Given the description of an element on the screen output the (x, y) to click on. 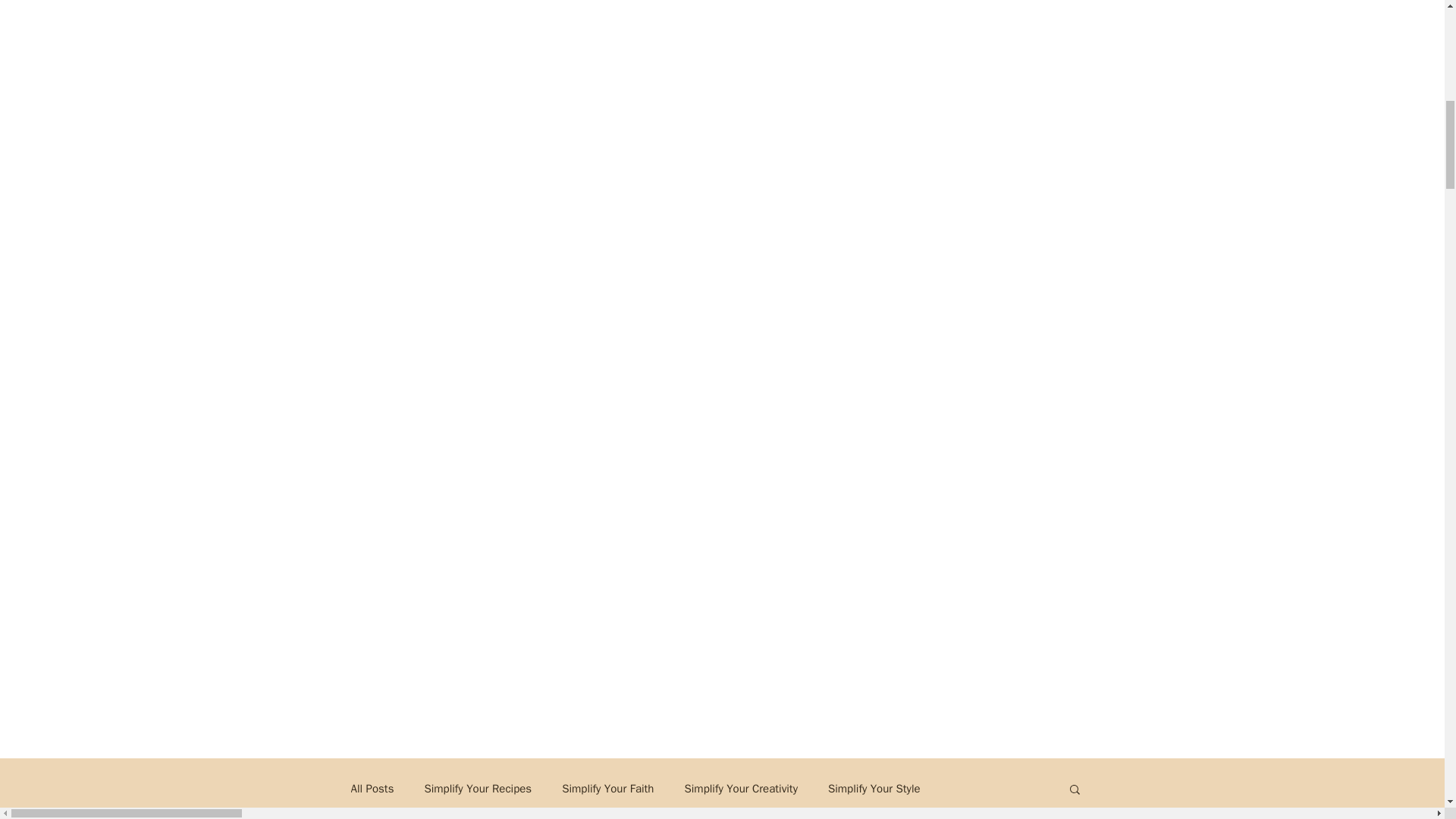
Simplify Your Faith (607, 789)
Simplify Your Style (874, 789)
Simplify Your Recipes (477, 789)
Simplify Your Creativity (740, 789)
All Posts (371, 789)
